Given the description of an element on the screen output the (x, y) to click on. 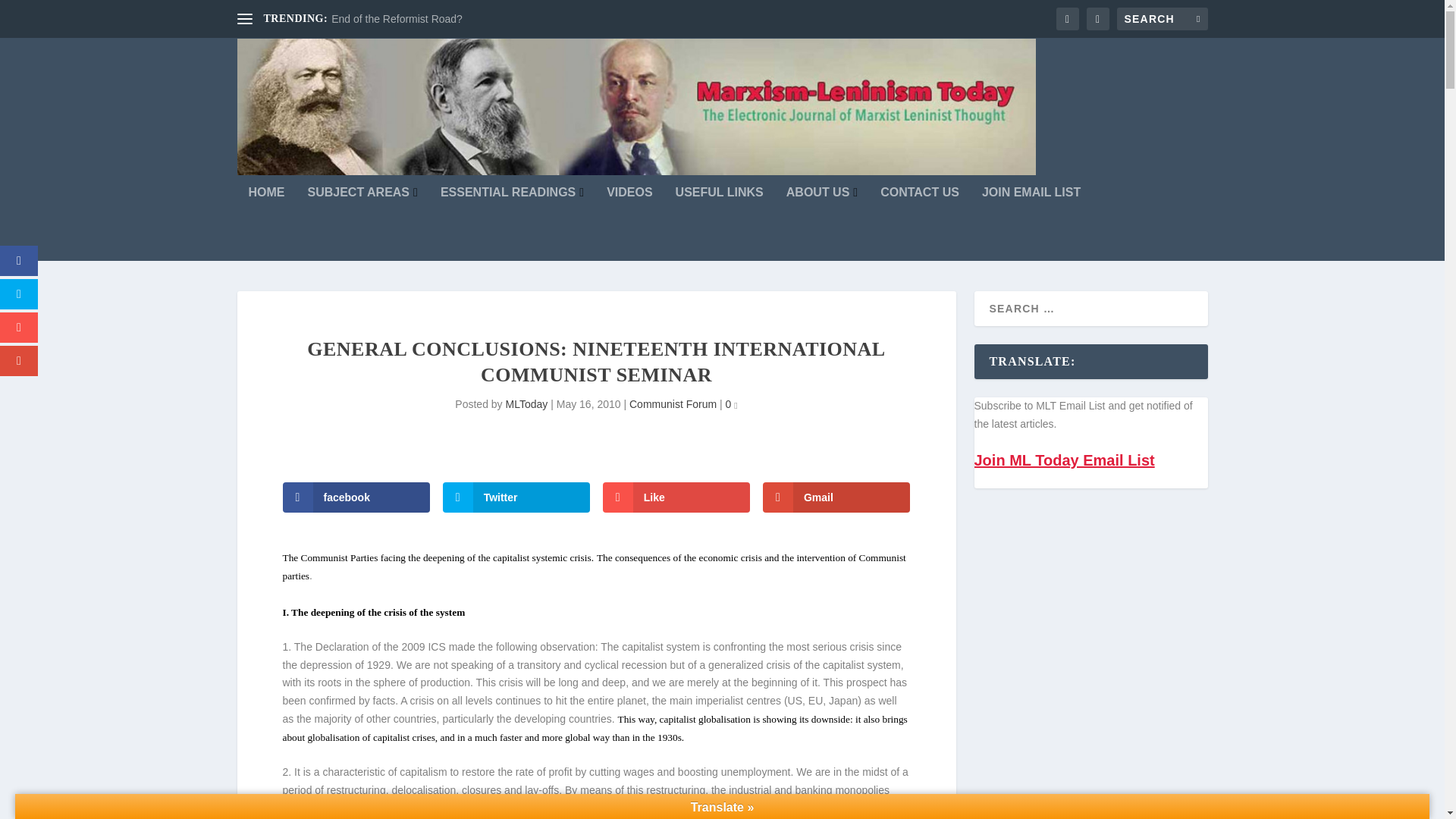
ESSENTIAL READINGS (512, 223)
End of the Reformist Road? (397, 19)
Search for: (1161, 18)
Posts by MLToday (526, 404)
USEFUL LINKS (718, 223)
ABOUT US (821, 223)
SUBJECT AREAS (362, 223)
